Given the description of an element on the screen output the (x, y) to click on. 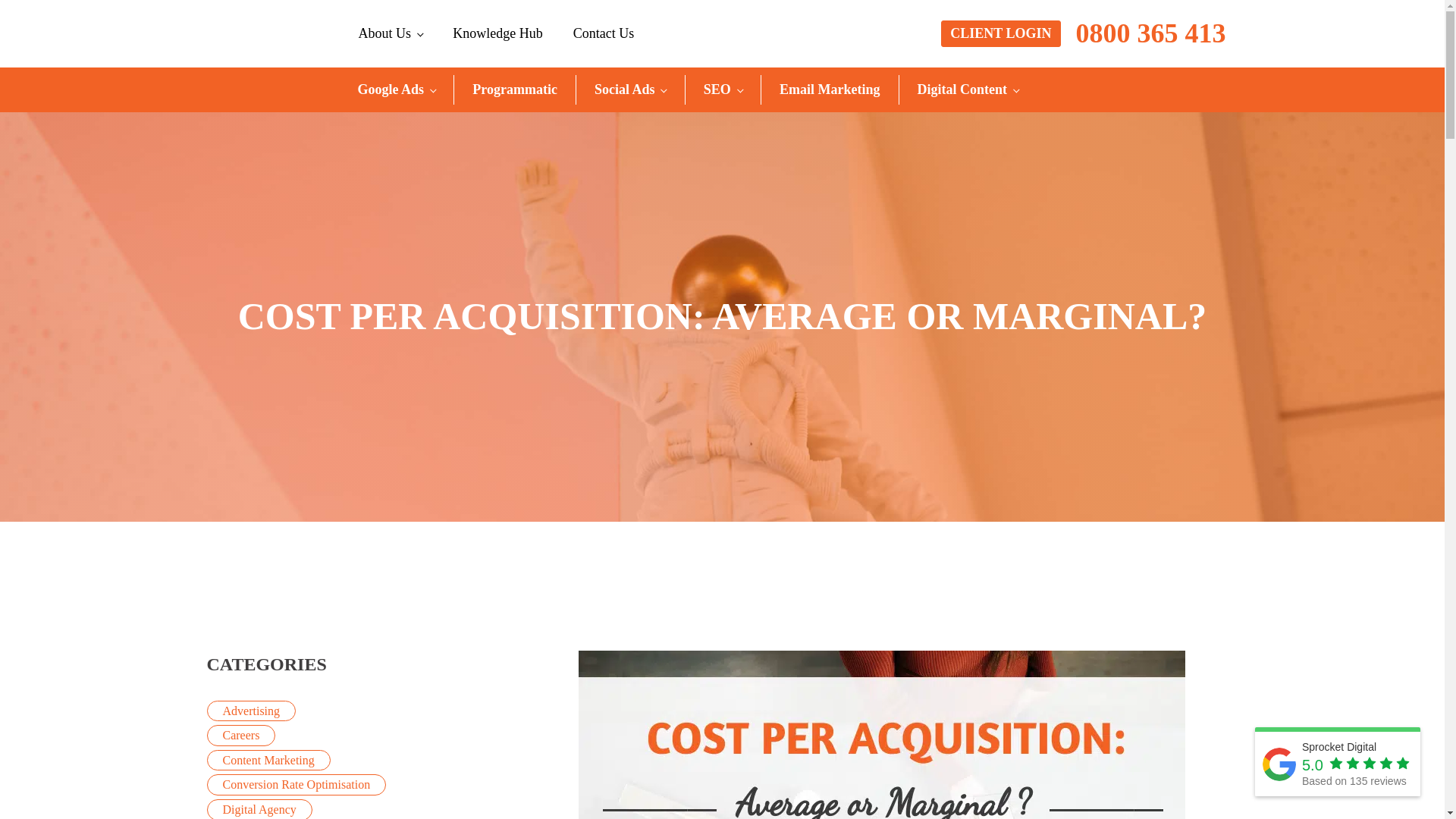
Google Ads (396, 89)
CLIENT LOGIN (999, 33)
Digital Content (967, 89)
Programmatic (514, 89)
About Us (390, 33)
Social Ads (630, 89)
Knowledge Hub (497, 33)
0800 365 413 (1150, 34)
SEO (722, 89)
Contact Us (603, 33)
Email Marketing (829, 89)
